Given the description of an element on the screen output the (x, y) to click on. 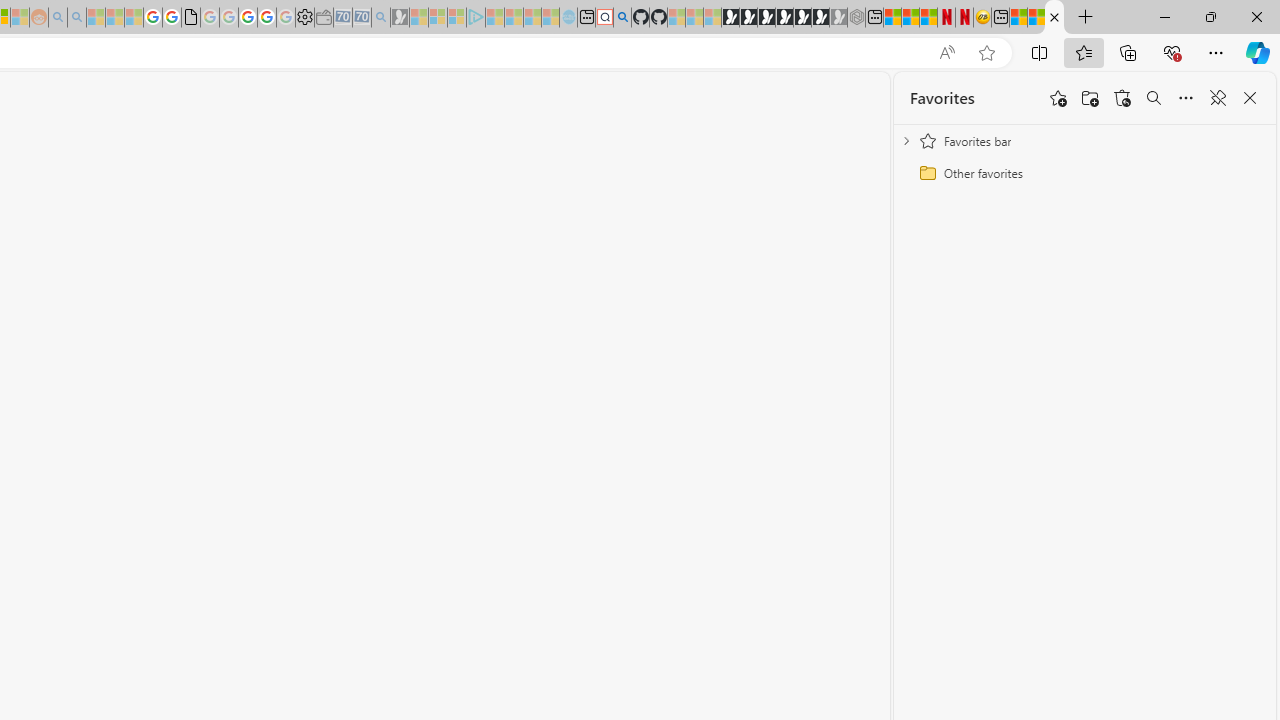
Bing Real Estate - Home sales and rental listings - Sleeping (381, 17)
Add this page to favorites (1058, 98)
Play Cave FRVR in your browser | Games from Microsoft Start (765, 17)
Utah sues federal government - Search - Sleeping (76, 17)
Restore deleted favorites (1122, 98)
Search favorites (1153, 98)
Play Free Online Games | Games from Microsoft Start (729, 17)
